Given the description of an element on the screen output the (x, y) to click on. 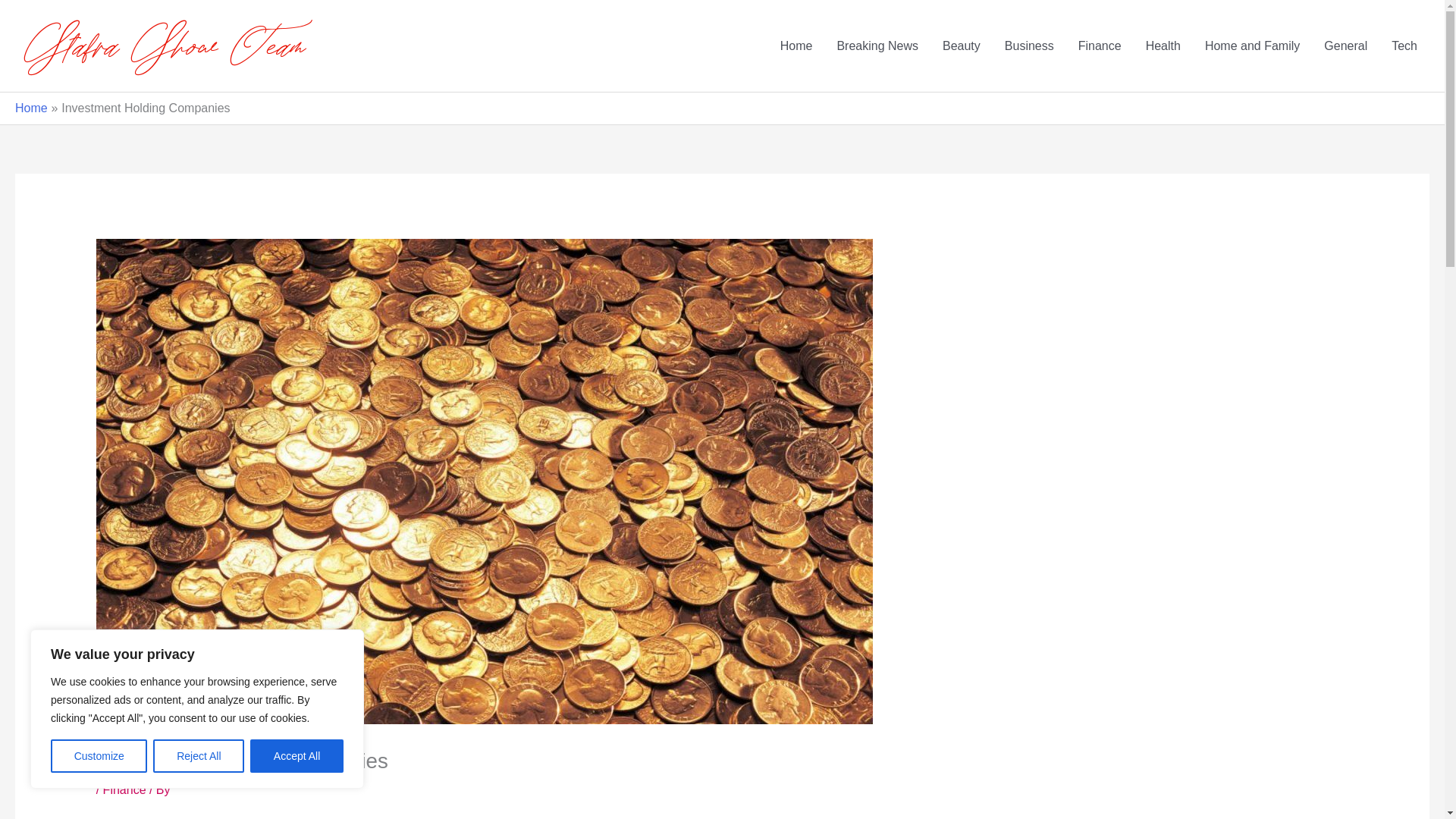
Tech (1403, 45)
Home (31, 107)
Finance (1099, 45)
Beauty (961, 45)
Home (796, 45)
Customize (98, 756)
Breaking News (877, 45)
Business (1028, 45)
Reject All (198, 756)
Accept All (296, 756)
